Given the description of an element on the screen output the (x, y) to click on. 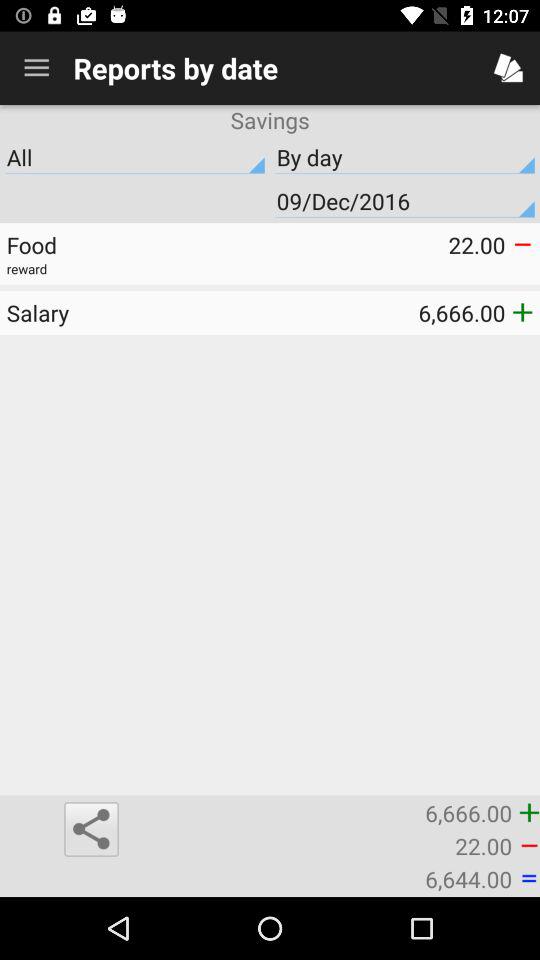
jump until food icon (138, 244)
